Given the description of an element on the screen output the (x, y) to click on. 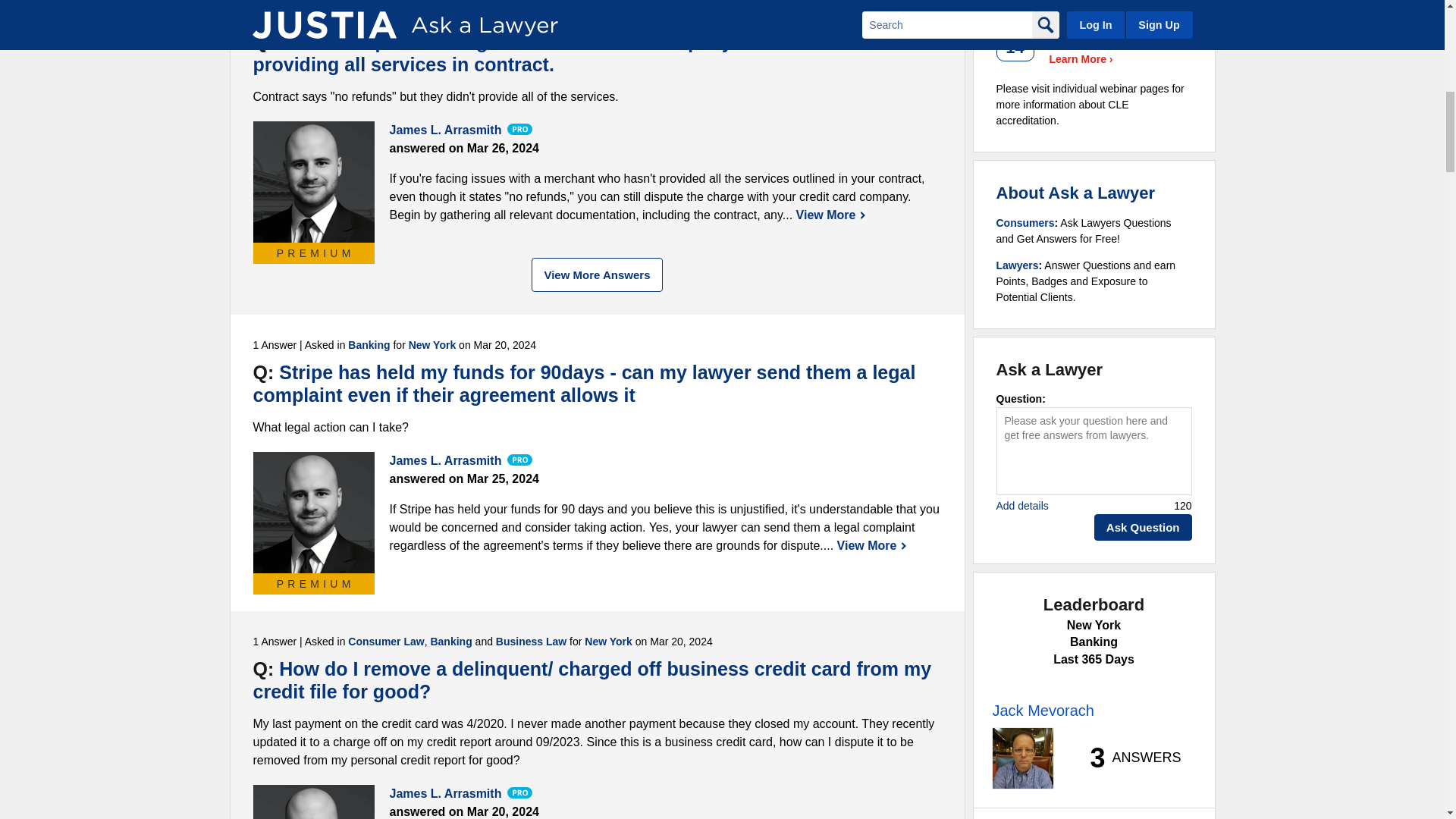
Banking (373, 14)
James L. Arrasmith (313, 801)
James L. Arrasmith (313, 512)
James L. Arrasmith (313, 181)
